Given the description of an element on the screen output the (x, y) to click on. 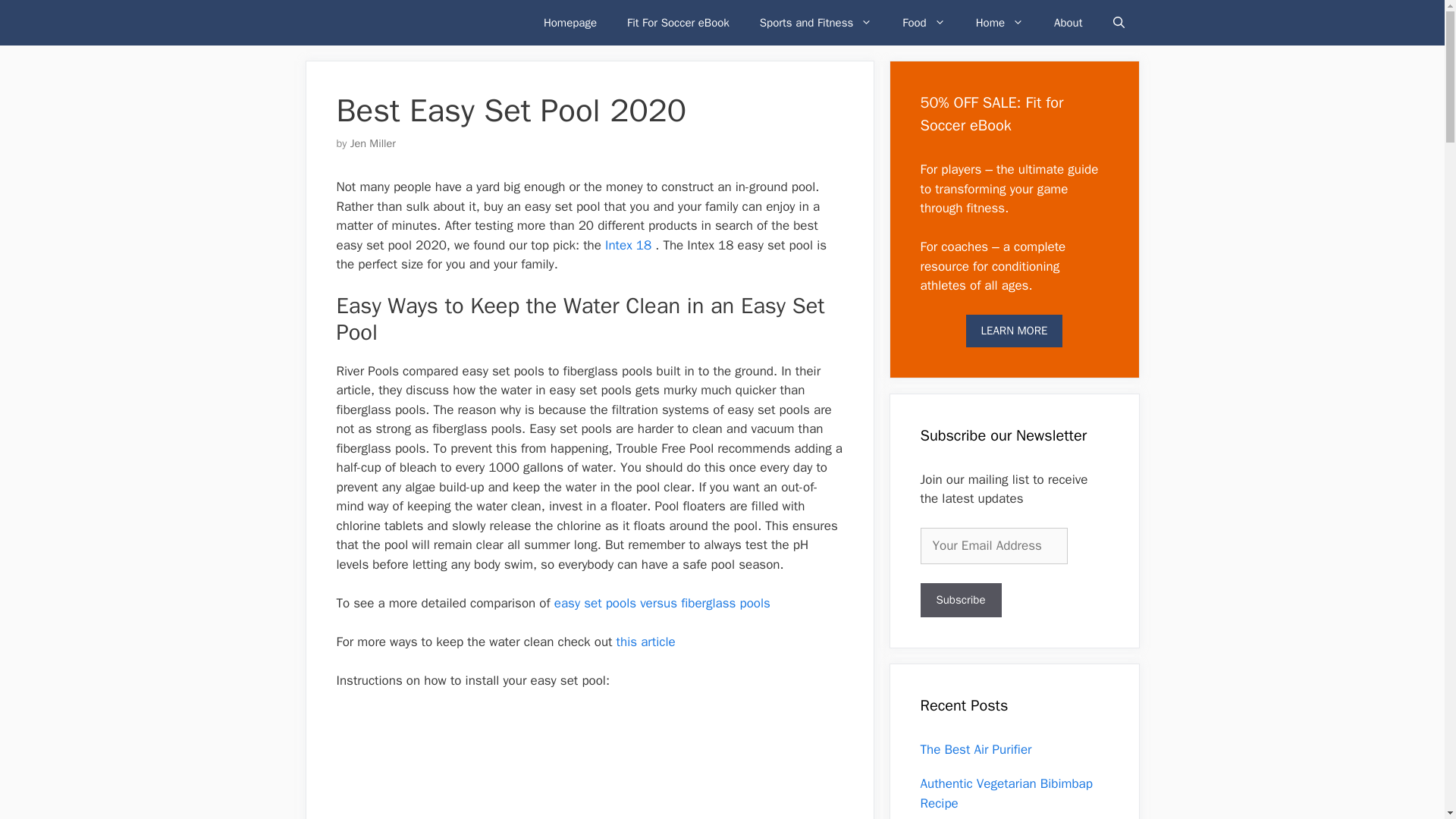
this article (645, 641)
Homepage (569, 22)
Jen Miller (373, 142)
Food (922, 22)
Fit For Soccer eBook (677, 22)
easy set pools versus fiberglass pools (662, 602)
Sports and Fitness (815, 22)
About (1068, 22)
Home (999, 22)
Subscribe (960, 600)
